Given the description of an element on the screen output the (x, y) to click on. 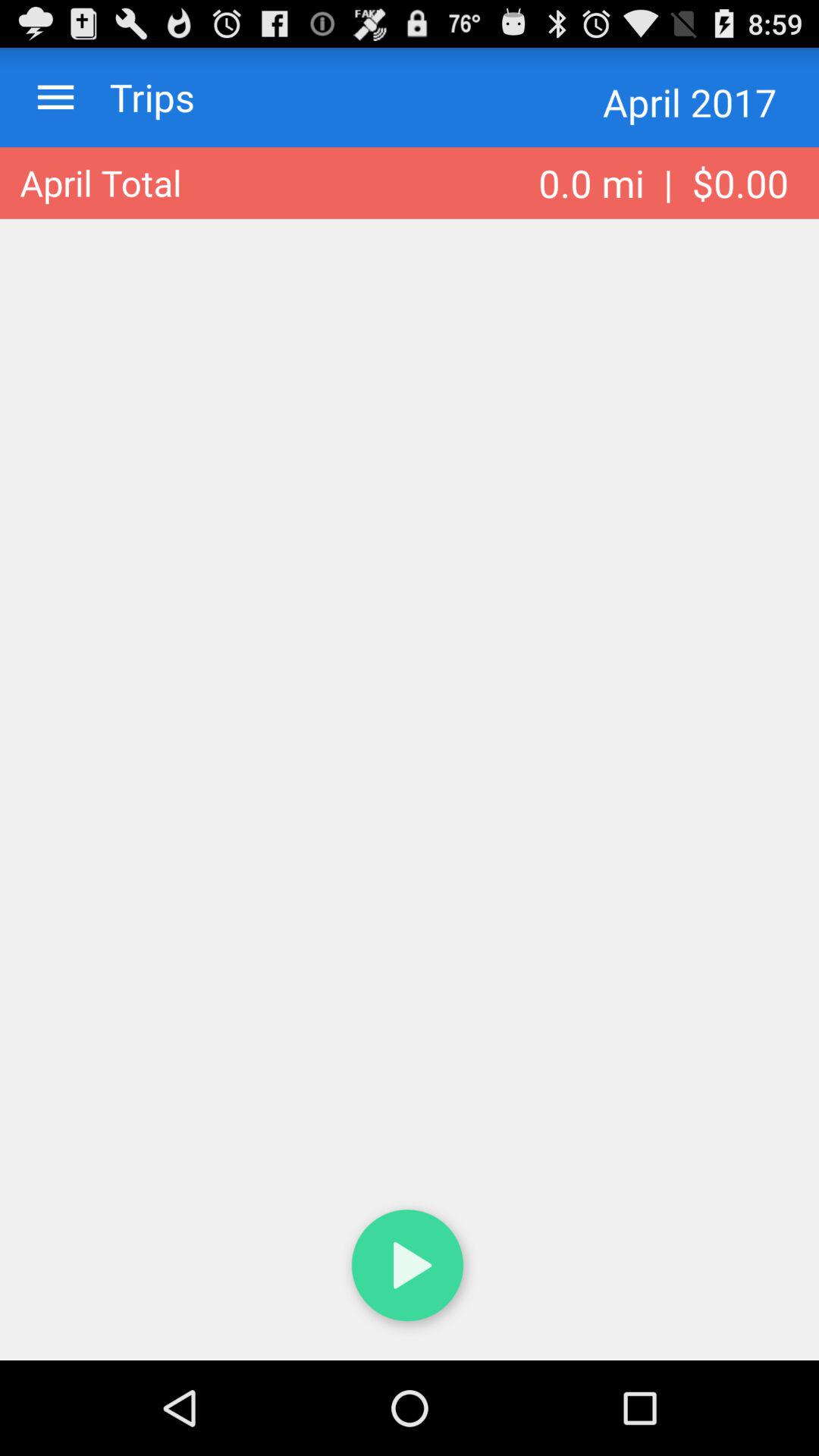
tap item to the left of the 0 0 mi app (100, 182)
